Given the description of an element on the screen output the (x, y) to click on. 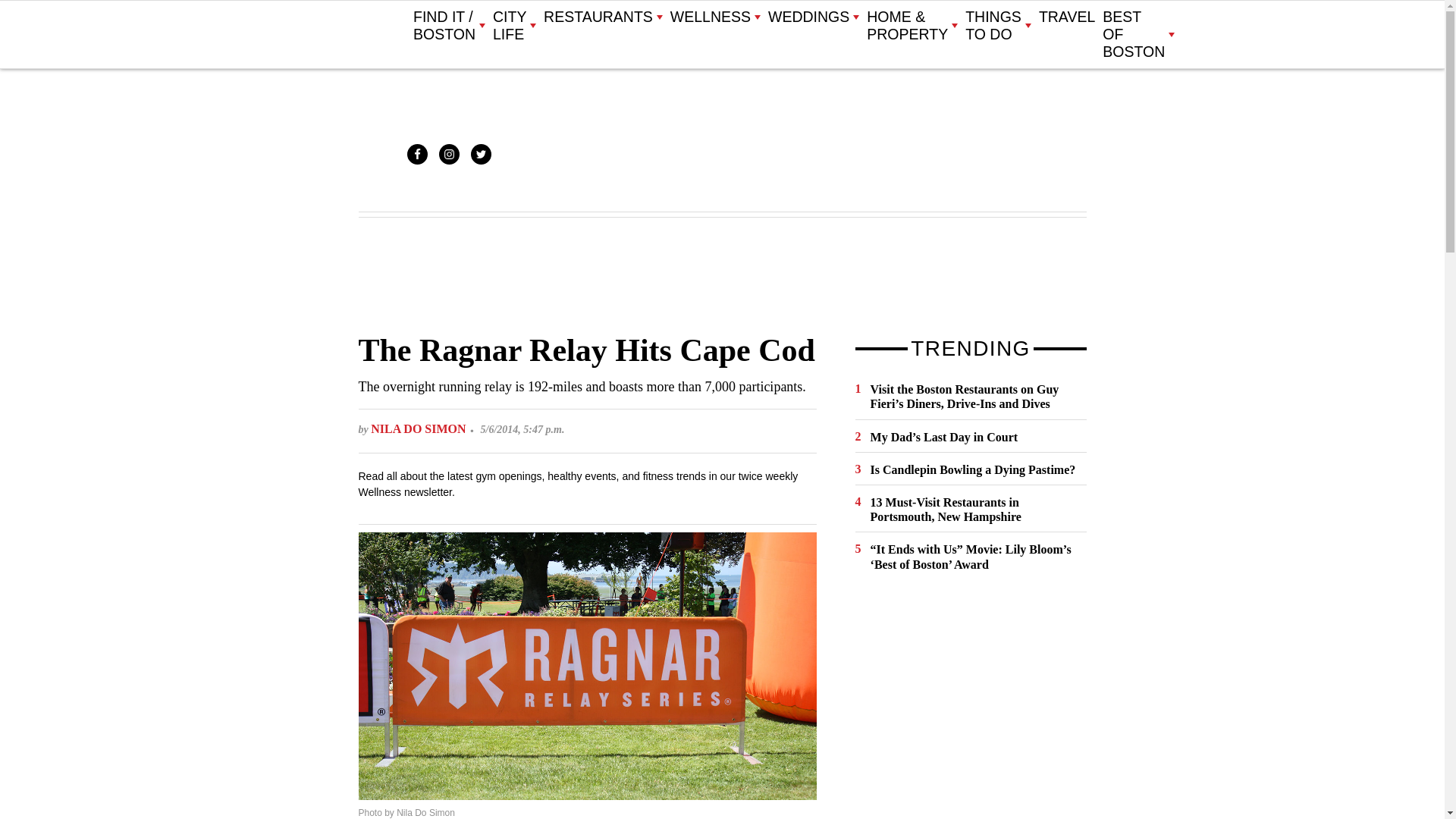
THINGS TO DO (997, 25)
WEDDINGS (813, 16)
WELLNESS (714, 16)
RESTAURANTS (602, 16)
